Given the description of an element on the screen output the (x, y) to click on. 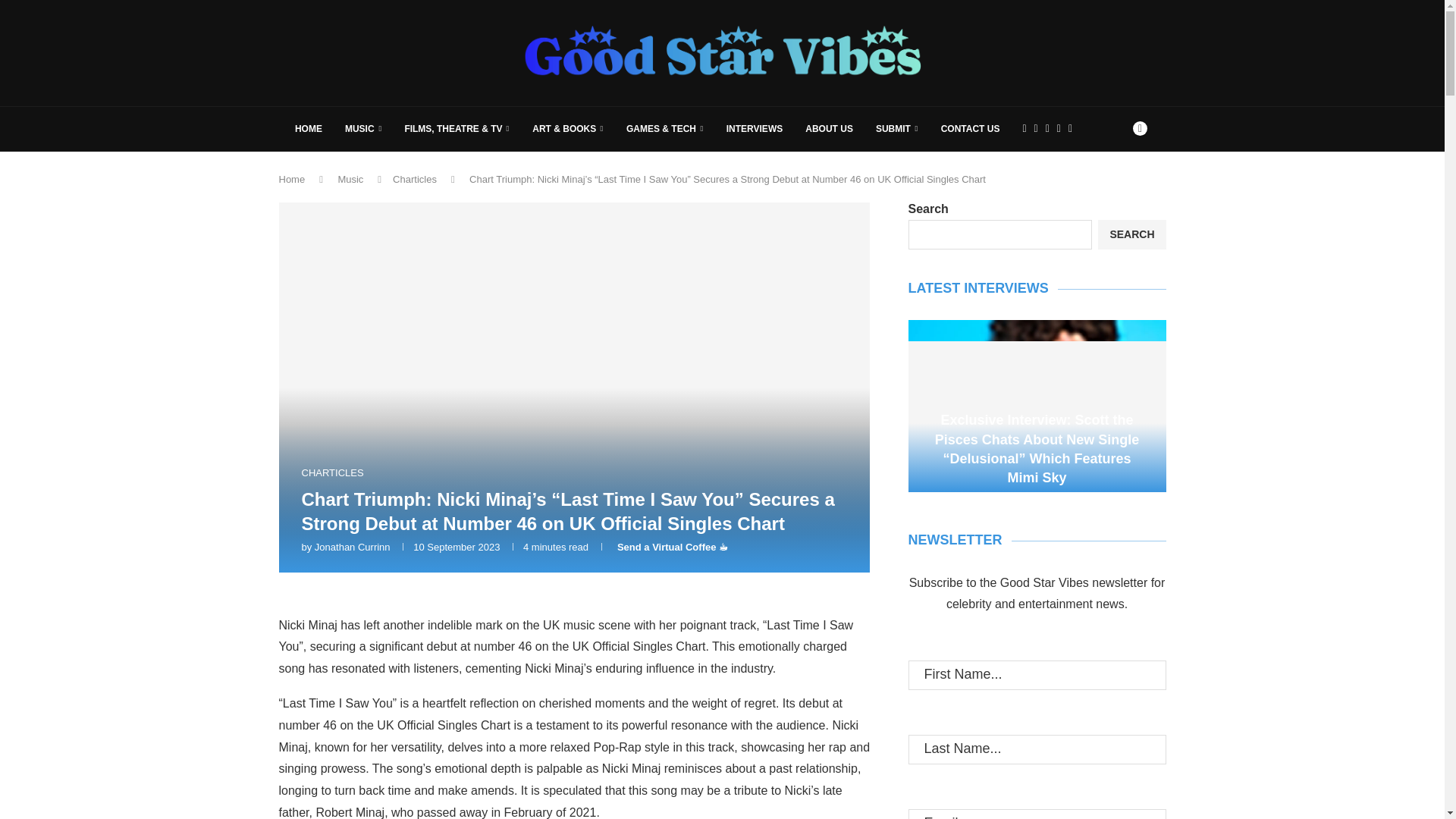
Jonathan Currinn (352, 546)
INTERVIEWS (754, 128)
Music (349, 179)
Home (292, 179)
HOME (308, 128)
ABOUT US (829, 128)
CONTACT US (970, 128)
Charticles (414, 179)
SUBMIT (897, 128)
CHARTICLES (332, 472)
MUSIC (363, 128)
